Given the description of an element on the screen output the (x, y) to click on. 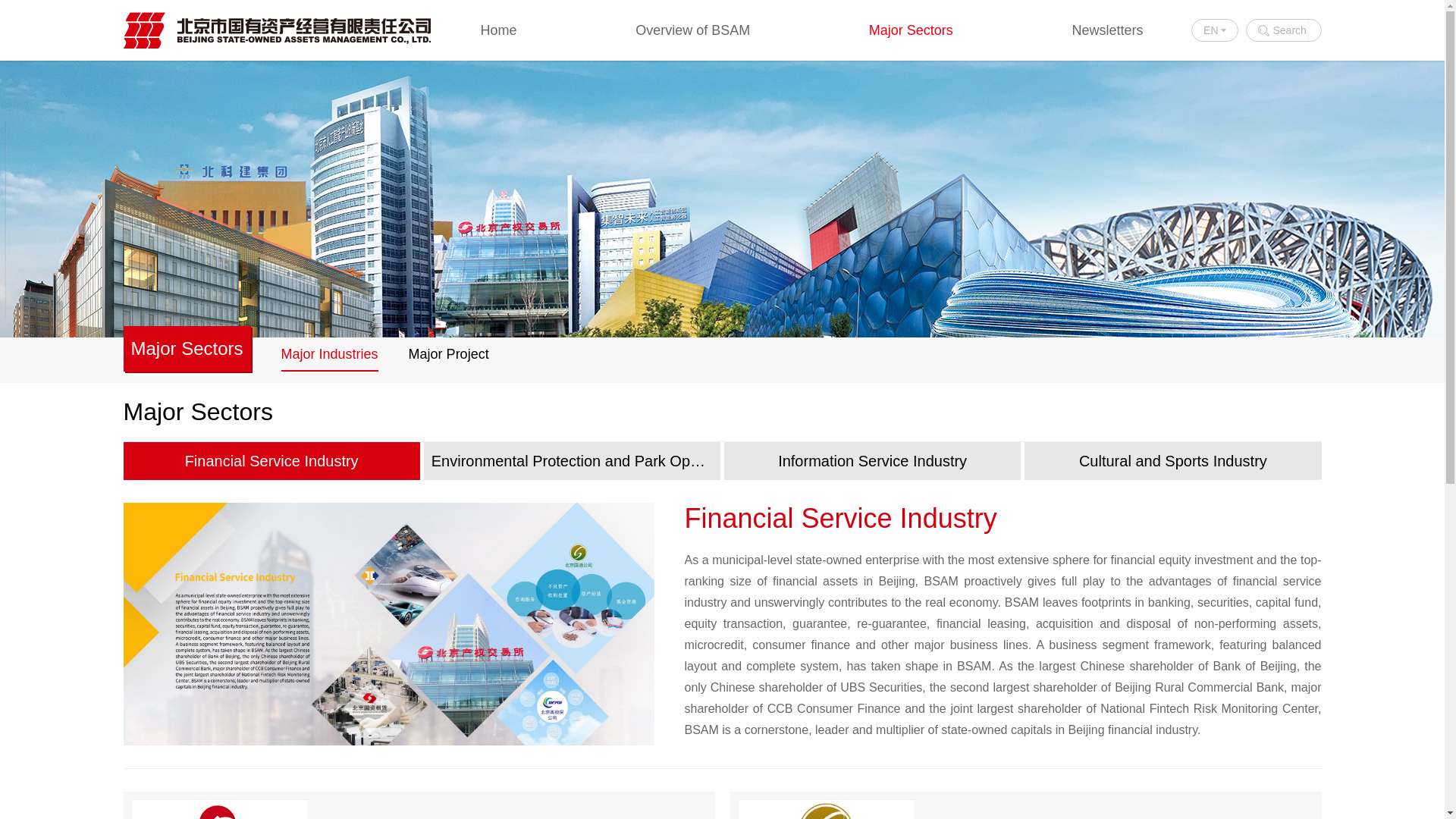
Major Sectors (911, 30)
Beijing Guotong Asset Management Co., Ltd (1032, 805)
Search (1281, 29)
Major Project (449, 354)
Newsletters (1106, 30)
Overview of BSAM (691, 30)
Major Industries (329, 354)
